Given the description of an element on the screen output the (x, y) to click on. 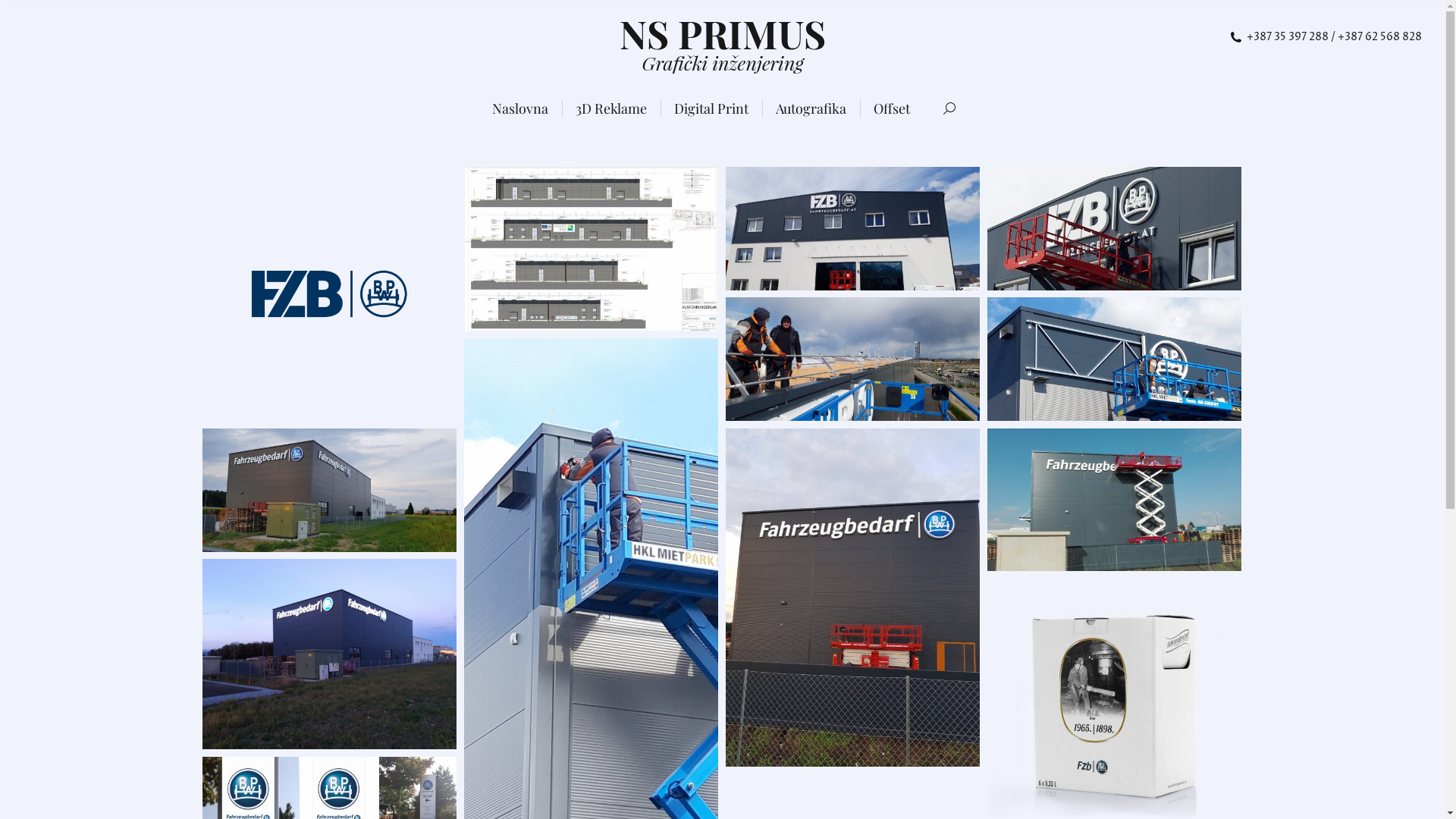
Go! Element type: text (25, 16)
viber_image_2021-03-18_21-54-01 Element type: hover (328, 490)
viber_image_2021-04-29_14-53-23 Element type: hover (851, 358)
FZB-500 Element type: hover (328, 293)
viber_image_2021-04-29_14-53-31 Element type: hover (851, 228)
3D Reklame Element type: text (610, 108)
viber_image_2021-04-29_14-53-30 Element type: hover (1114, 228)
fzb-plan Element type: hover (591, 248)
20181030_165550 Element type: hover (328, 653)
Digital Print Element type: text (711, 108)
viber_image_2021-04-29_14-53-20 Element type: hover (1114, 358)
Offset Element type: text (891, 108)
Naslovna Element type: text (520, 108)
Autografika Element type: text (810, 108)
